Given the description of an element on the screen output the (x, y) to click on. 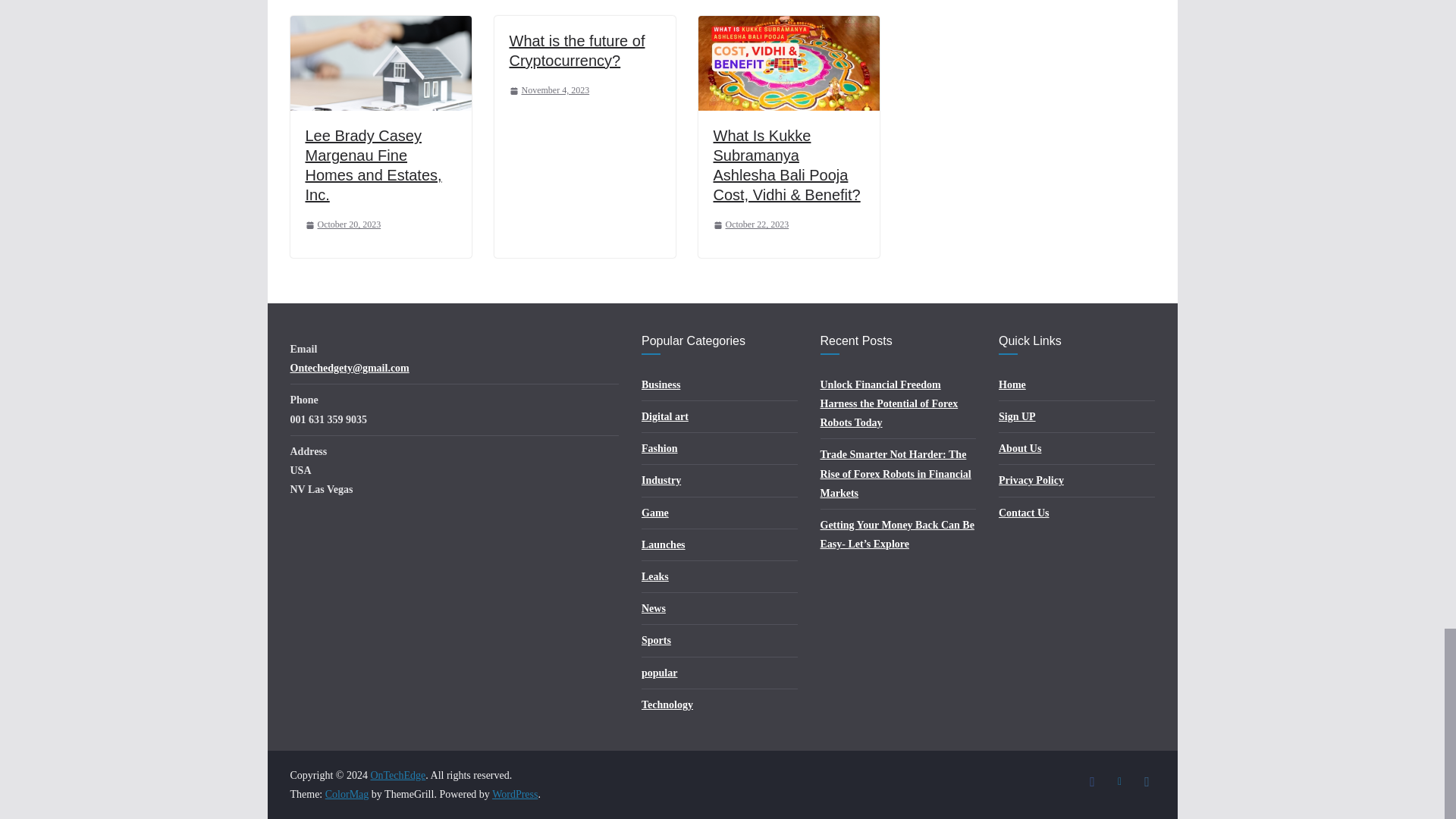
November 4, 2023 (549, 90)
Lee Brady Casey Margenau Fine Homes and Estates, Inc. (379, 25)
Lee Brady Casey Margenau Fine Homes and Estates, Inc. (372, 165)
4:17 pm (549, 90)
October 22, 2023 (751, 225)
2:16 am (751, 225)
3:20 am (342, 225)
Lee Brady Casey Margenau Fine Homes and Estates, Inc. (372, 165)
What is the future of Cryptocurrency? (577, 50)
October 20, 2023 (342, 225)
What is the future of Cryptocurrency? (577, 50)
